Given the description of an element on the screen output the (x, y) to click on. 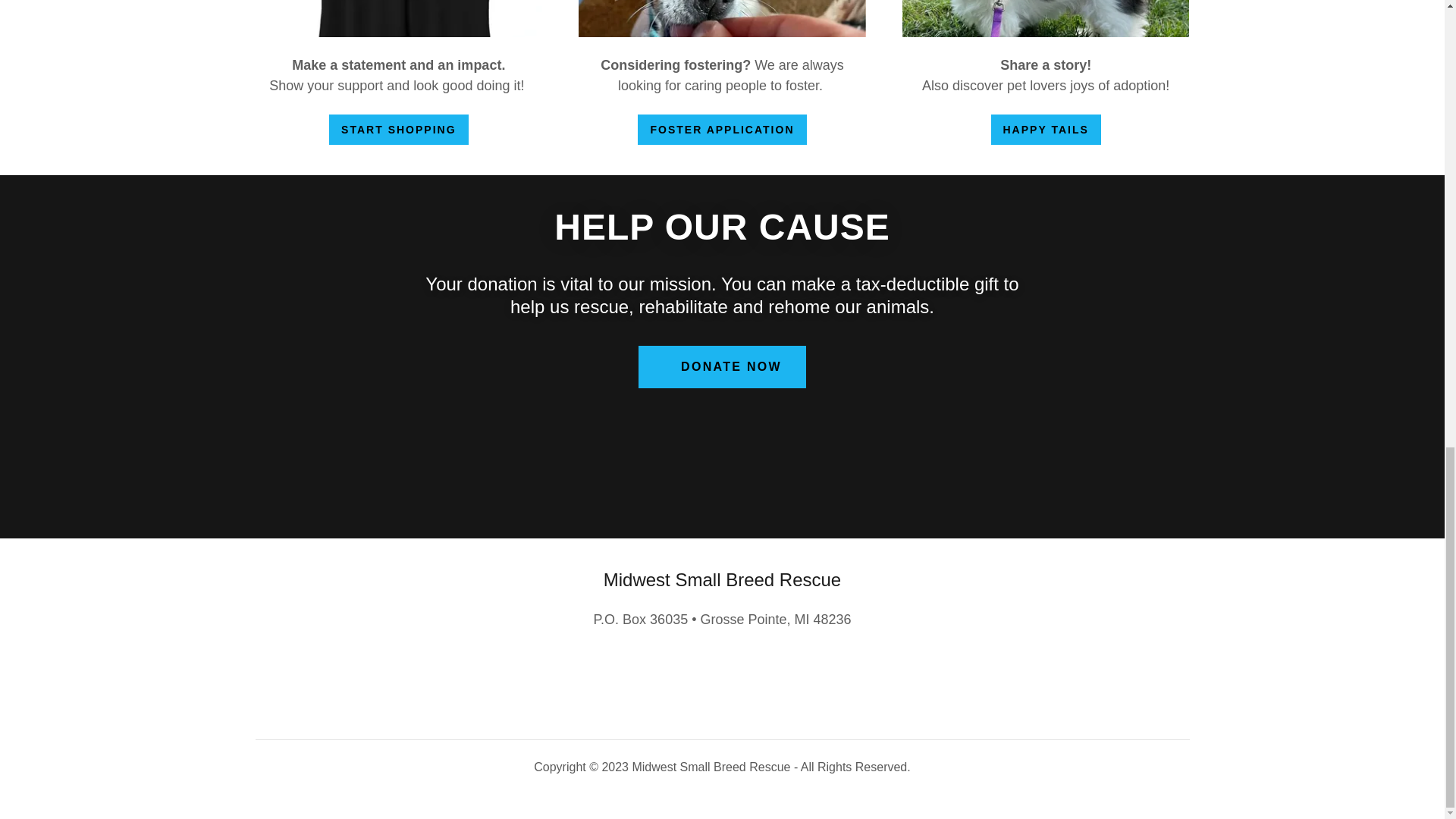
FOSTER APPLICATION (721, 129)
START SHOPPING (398, 129)
HAPPY TAILS (1045, 129)
DONATE NOW (722, 366)
